Given the description of an element on the screen output the (x, y) to click on. 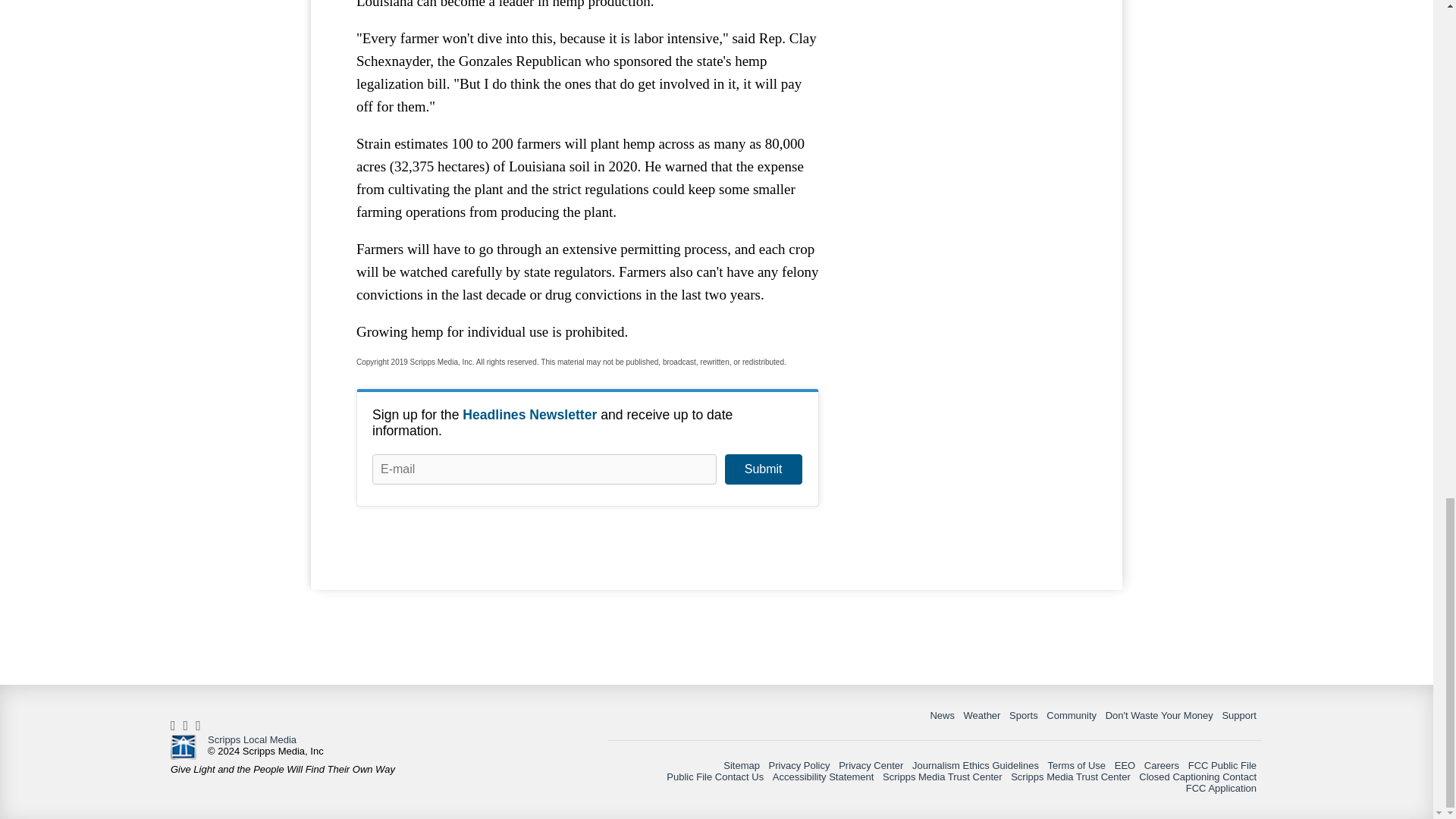
Submit (763, 469)
